Given the description of an element on the screen output the (x, y) to click on. 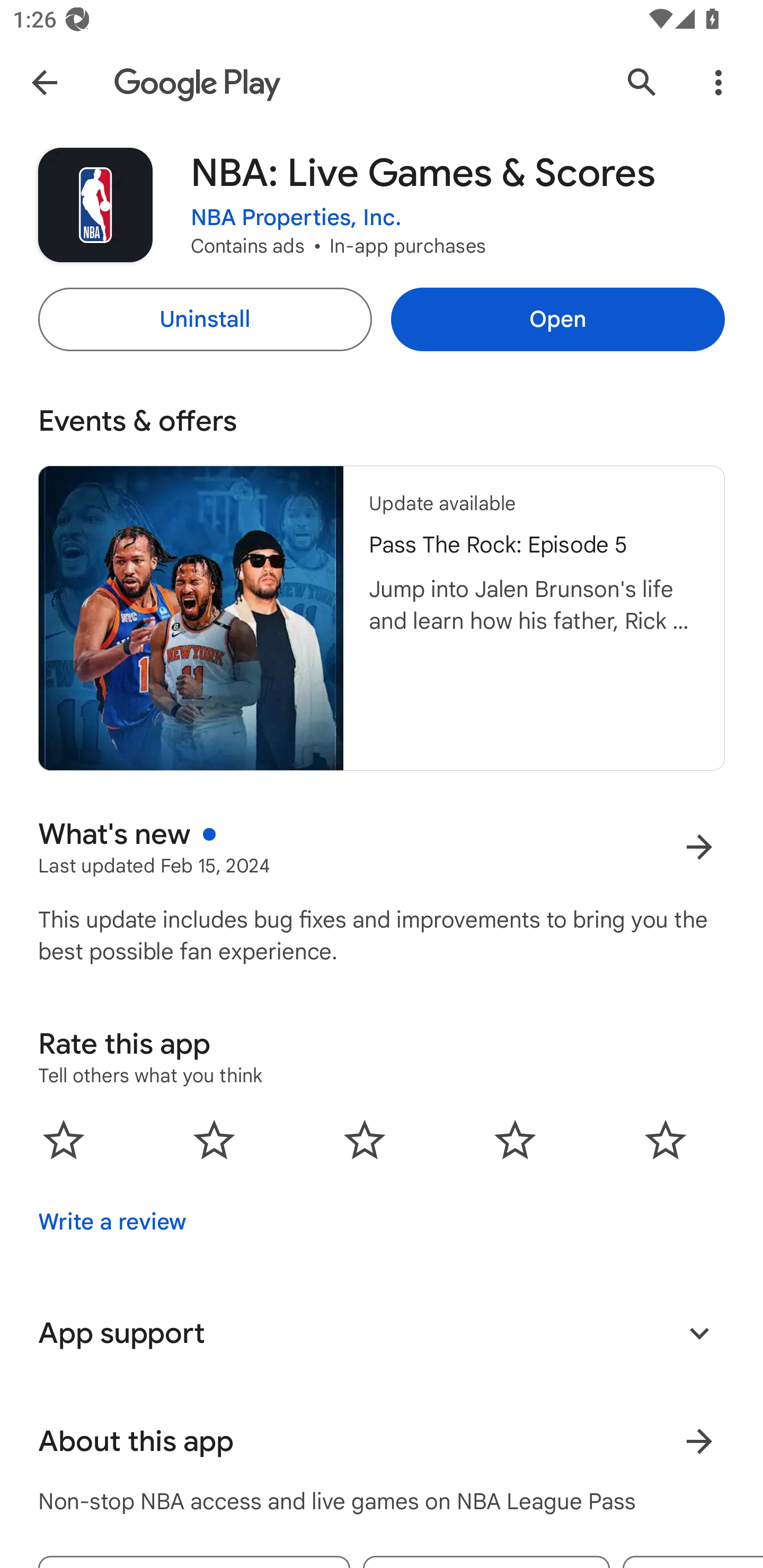
Navigate up (44, 81)
Search Google Play (642, 81)
More Options (718, 81)
NBA Properties, Inc. (295, 217)
Uninstall (205, 318)
Open (557, 318)
More results for What's new (699, 847)
0.0 (364, 1138)
Write a review (112, 1221)
App support Expand (381, 1333)
Expand (699, 1333)
About this app Learn more About this app (381, 1441)
Learn more About this app (699, 1441)
